Given the description of an element on the screen output the (x, y) to click on. 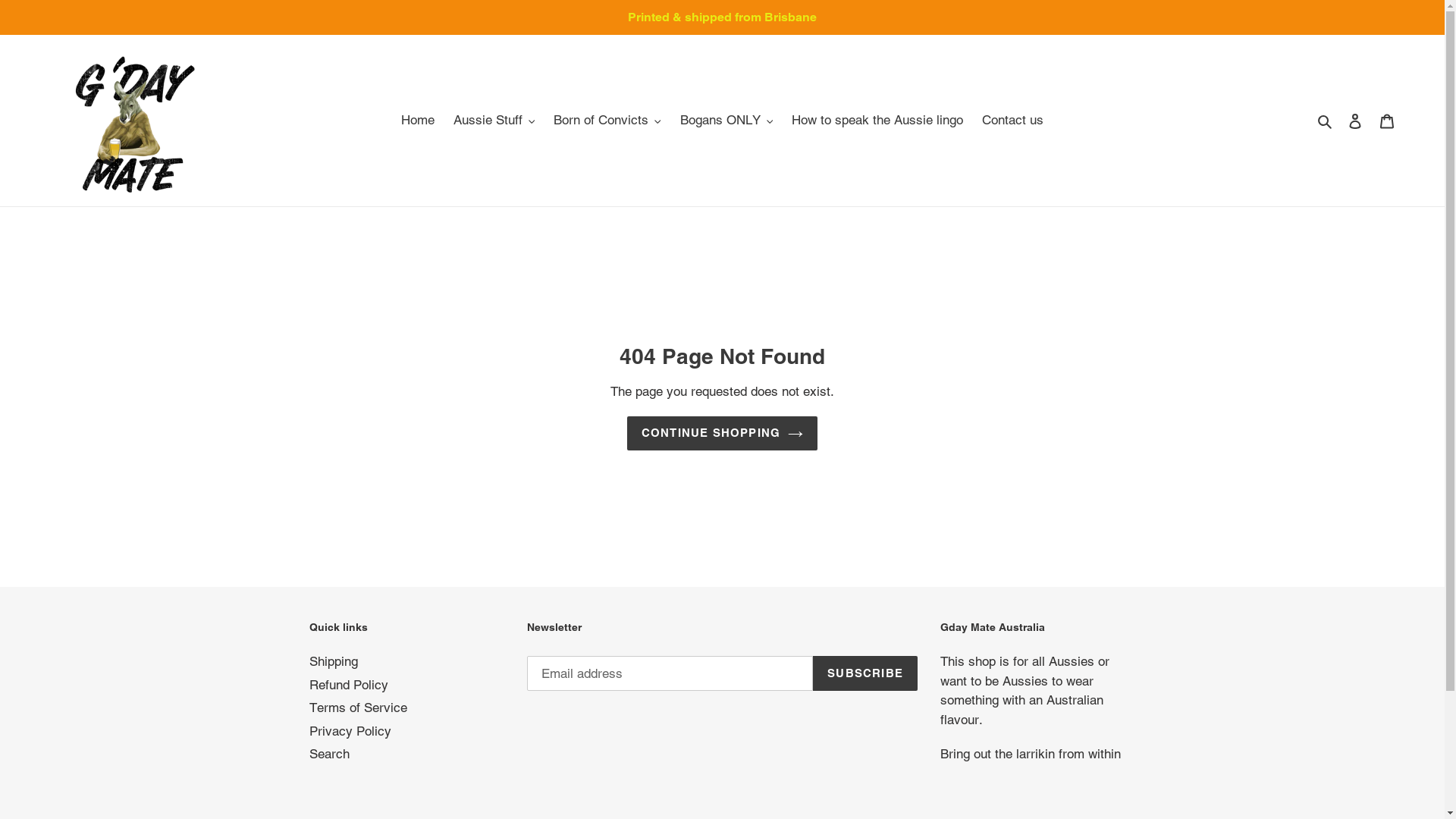
Cart Element type: text (1386, 120)
Log in Element type: text (1355, 120)
Born of Convicts Element type: text (607, 120)
Contact us Element type: text (1012, 120)
How to speak the Aussie lingo Element type: text (877, 120)
Terms of Service Element type: text (358, 707)
Refund Policy Element type: text (348, 684)
Aussie Stuff Element type: text (493, 120)
SUBSCRIBE Element type: text (864, 672)
CONTINUE SHOPPING Element type: text (722, 433)
Search Element type: text (329, 753)
Search Element type: text (1325, 120)
Shipping Element type: text (333, 660)
Home Element type: text (417, 120)
Privacy Policy Element type: text (350, 730)
Bogans ONLY Element type: text (726, 120)
